Given the description of an element on the screen output the (x, y) to click on. 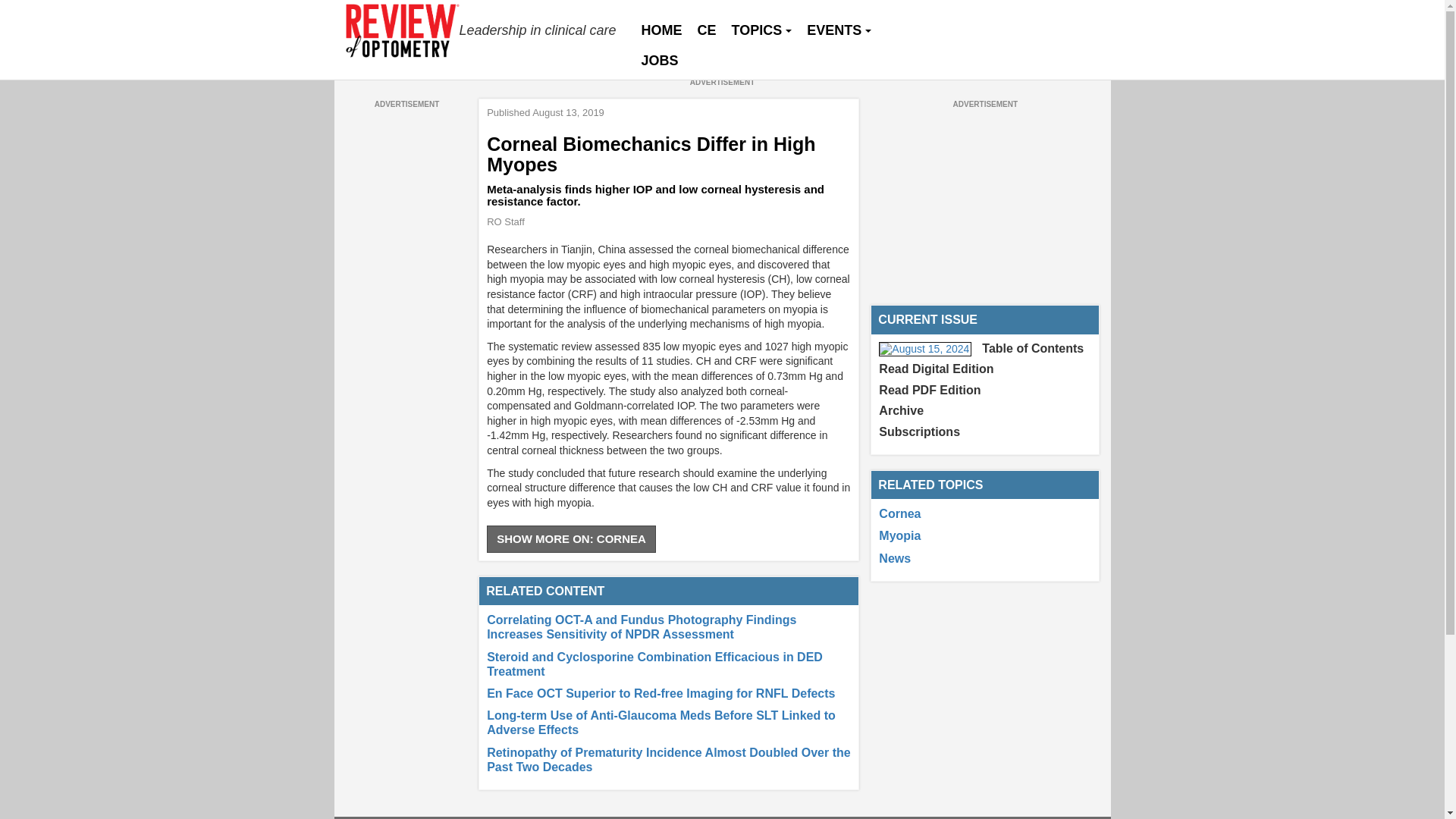
CE (706, 30)
En Face OCT Superior to Red-free Imaging for RNFL Defects (660, 693)
Table of Contents (1032, 348)
EVENTS (839, 30)
JOBS (659, 60)
TOPICS (761, 30)
Leadership in clinical care (482, 30)
HOME (661, 30)
